Given the description of an element on the screen output the (x, y) to click on. 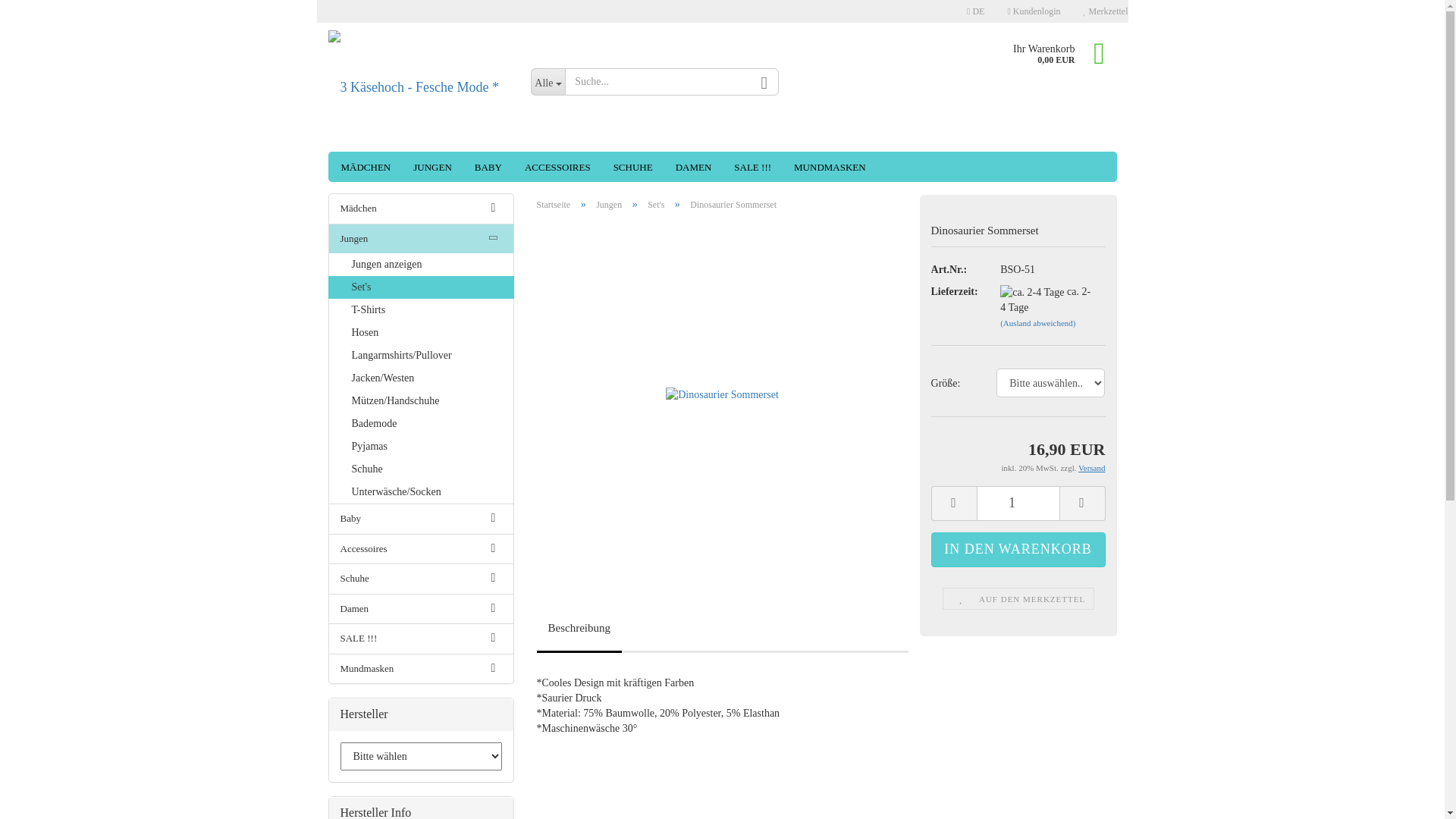
Jungen anzeigen Element type: text (421, 264)
Bademode Element type: text (421, 423)
 Kundenlogin Element type: text (1033, 11)
Set's Element type: text (420, 287)
Schuhe Element type: text (421, 578)
Schuhe Element type: text (421, 469)
SALE !!! Element type: text (752, 166)
Set's Element type: text (655, 204)
DE Element type: text (975, 11)
In den Warenkorb Element type: text (1018, 549)
Hosen Element type: text (421, 332)
Accessoires Element type: text (421, 549)
AUF DEN MERKZETTEL Element type: text (1017, 598)
Startseite Element type: text (553, 204)
BABY Element type: text (488, 166)
Anmelden Element type: text (950, 182)
 Merkzettel Element type: text (1105, 11)
Baby Element type: text (421, 518)
Dinosaurier Sommerset Element type: hover (721, 392)
Beschreibung Element type: text (578, 631)
Alle Element type: text (547, 81)
Speichern Element type: text (892, 124)
T-Shirts Element type: text (421, 309)
(Ausland abweichend) Element type: text (1037, 322)
In den Warenkorb Element type: hover (1018, 549)
DAMEN Element type: text (693, 166)
Versand Element type: text (1091, 467)
Damen Element type: text (421, 609)
SCHUHE Element type: text (633, 166)
Ihr Warenkorb
0,00 EUR Element type: text (1059, 52)
Jungen Element type: text (421, 239)
Jacken/Westen Element type: text (421, 378)
Langarmshirts/Pullover Element type: text (421, 355)
Jungen Element type: text (608, 204)
Mundmasken Element type: text (421, 669)
Dinosaurier Sommerset Element type: hover (721, 394)
ACCESSOIRES Element type: text (557, 166)
MUNDMASKEN Element type: text (829, 166)
JUNGEN Element type: text (432, 166)
Pyjamas Element type: text (421, 446)
SALE !!! Element type: text (421, 638)
